Given the description of an element on the screen output the (x, y) to click on. 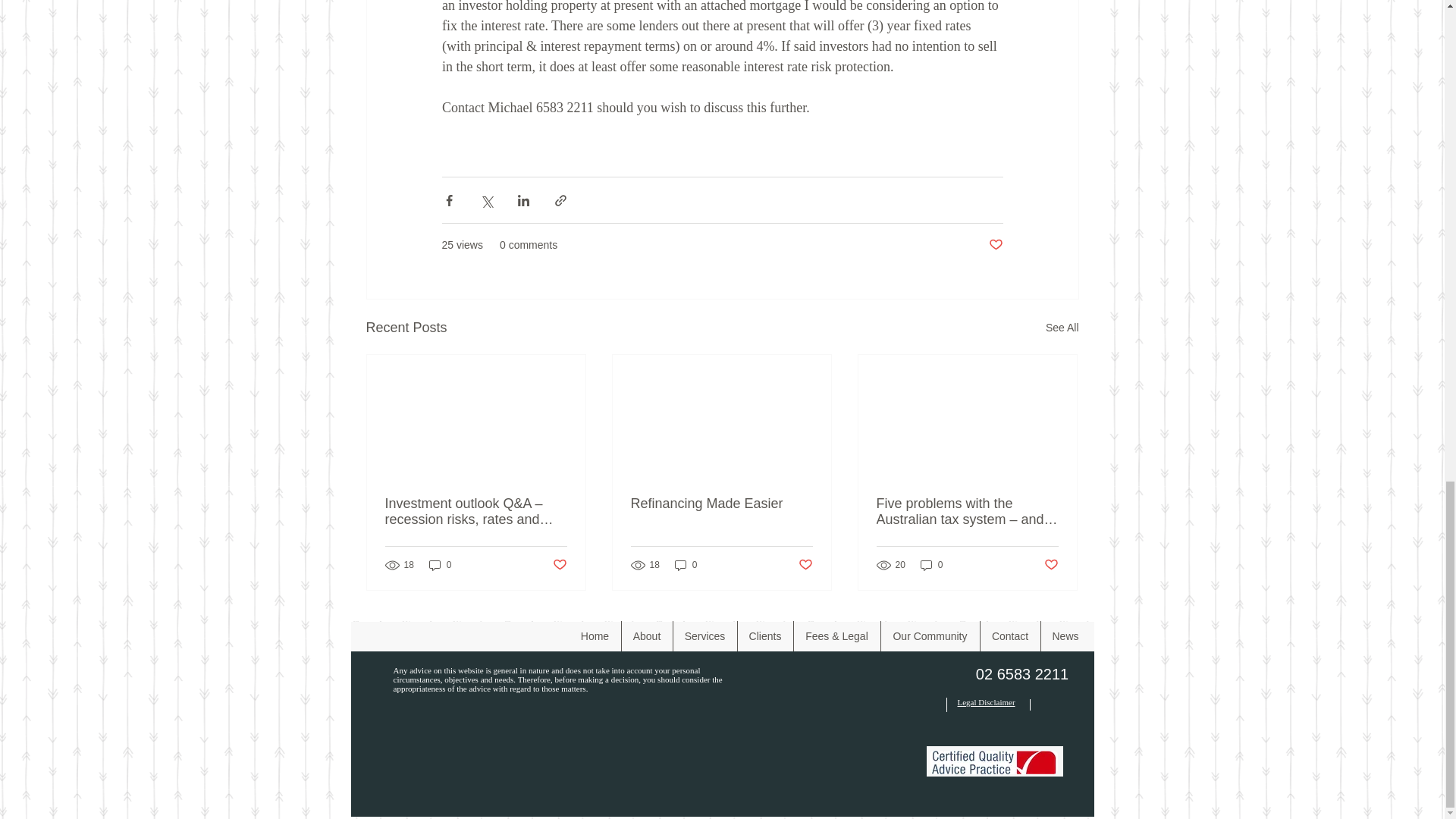
0 (685, 564)
Legal Disclaimer (985, 701)
0 (931, 564)
0 (440, 564)
download.jpg (994, 762)
About (646, 635)
Post not marked as liked (995, 245)
Post not marked as liked (1050, 564)
Refinancing Made Easier (721, 503)
Post not marked as liked (558, 564)
Home (594, 635)
Post not marked as liked (804, 564)
See All (1061, 327)
